Given the description of an element on the screen output the (x, y) to click on. 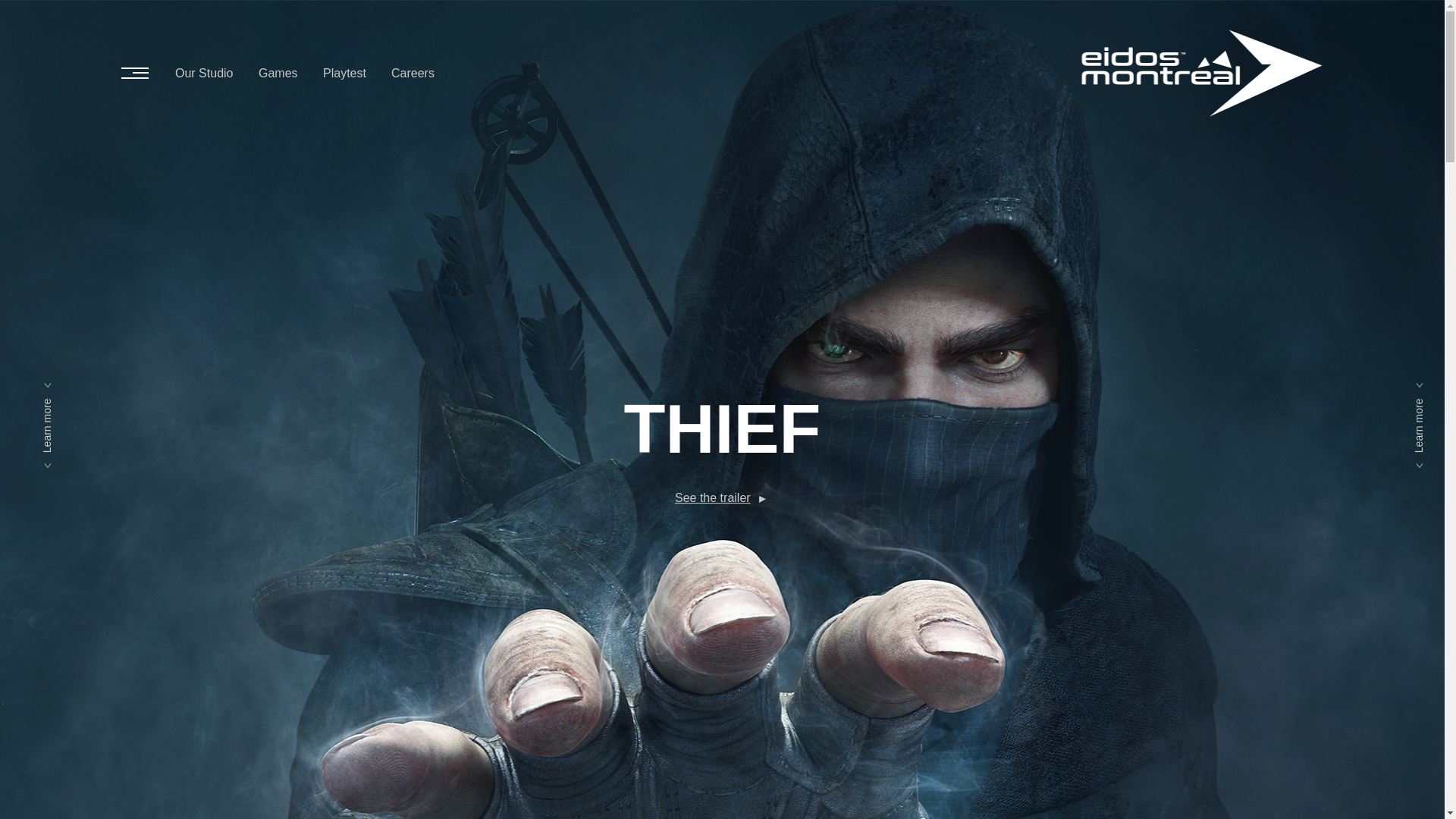
Our Studio (203, 72)
See the trailer (713, 498)
Learn more (71, 398)
Learn more (71, 398)
